Given the description of an element on the screen output the (x, y) to click on. 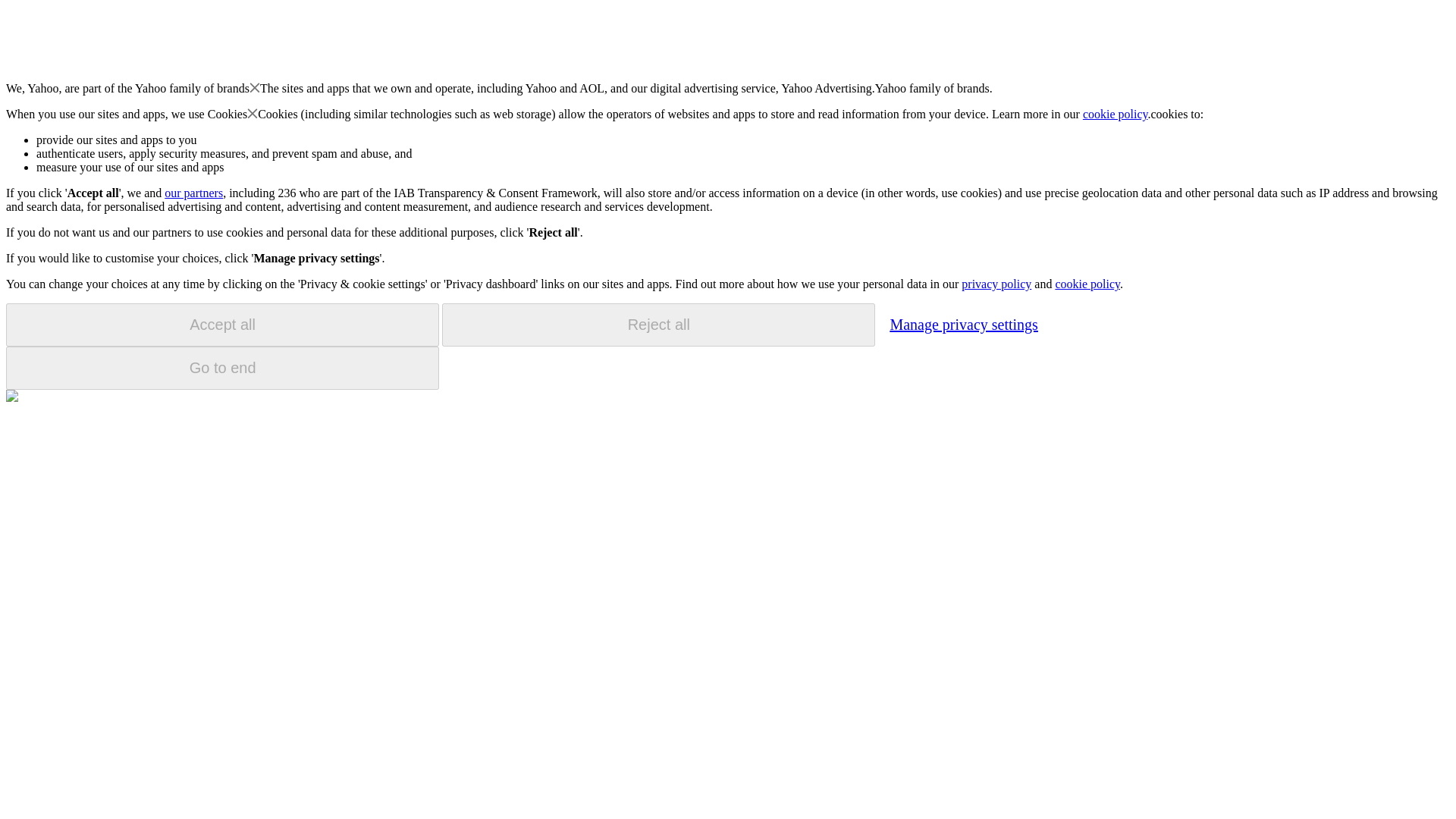
cookie policy (1086, 283)
cookie policy (1115, 113)
our partners (193, 192)
Go to end (222, 367)
Reject all (658, 324)
Accept all (222, 324)
Manage privacy settings (963, 323)
privacy policy (995, 283)
